Given the description of an element on the screen output the (x, y) to click on. 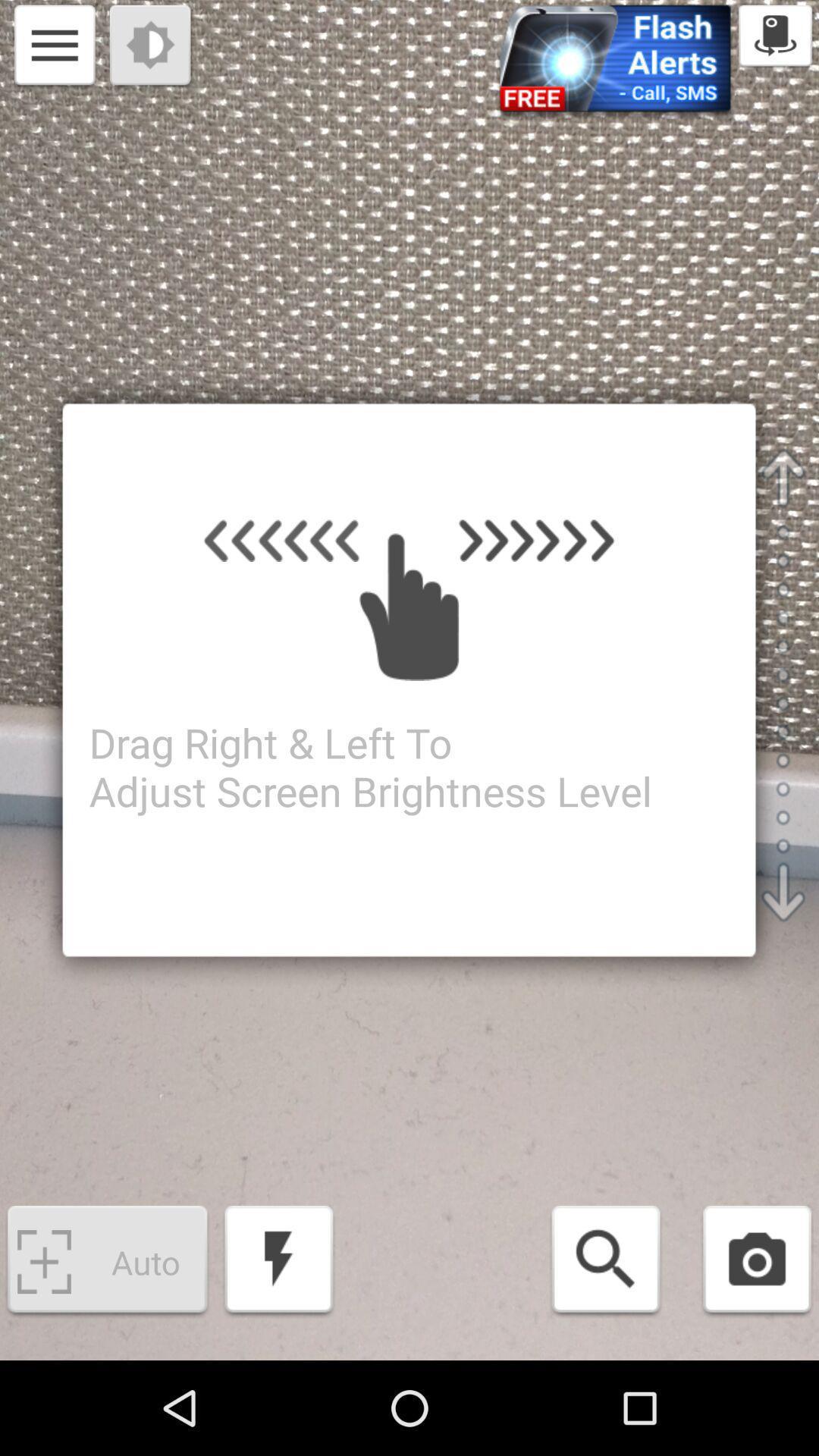
adjust screen brightness (151, 47)
